Given the description of an element on the screen output the (x, y) to click on. 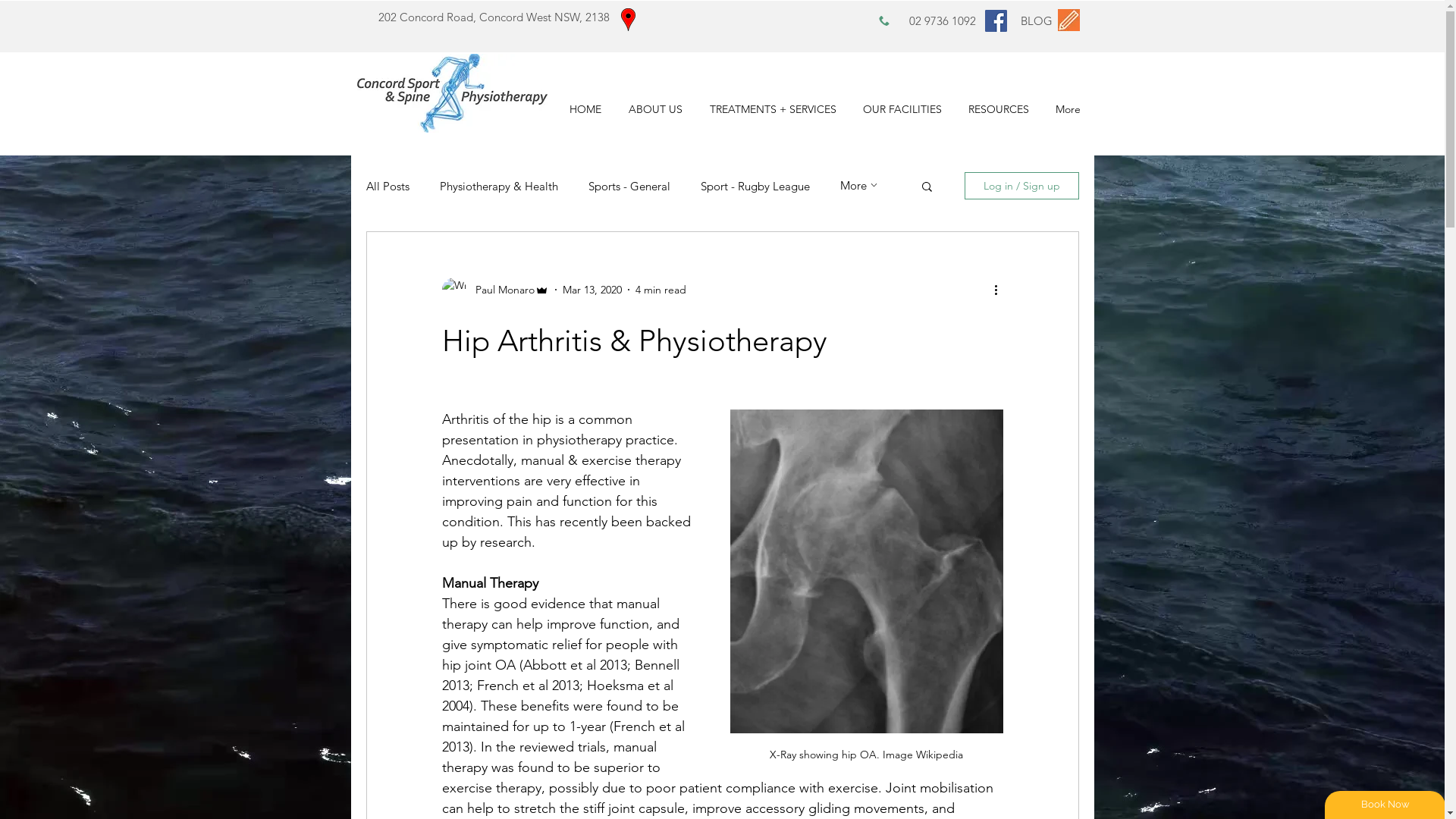
RESOURCES Element type: text (998, 109)
HOME Element type: text (584, 109)
TREATMENTS + SERVICES Element type: text (773, 109)
OUR FACILITIES Element type: text (901, 109)
Physiotherapy & Health Element type: text (498, 185)
BLOG Element type: text (1036, 20)
Twitter Follow Element type: hover (1135, 21)
ABOUT US Element type: text (654, 109)
Log in / Sign up Element type: text (1021, 185)
All Posts Element type: text (386, 185)
Sport - Rugby League Element type: text (754, 185)
Sports - General Element type: text (629, 185)
202 Concord Road, Concord West NSW, 2138 Element type: text (492, 16)
